Given the description of an element on the screen output the (x, y) to click on. 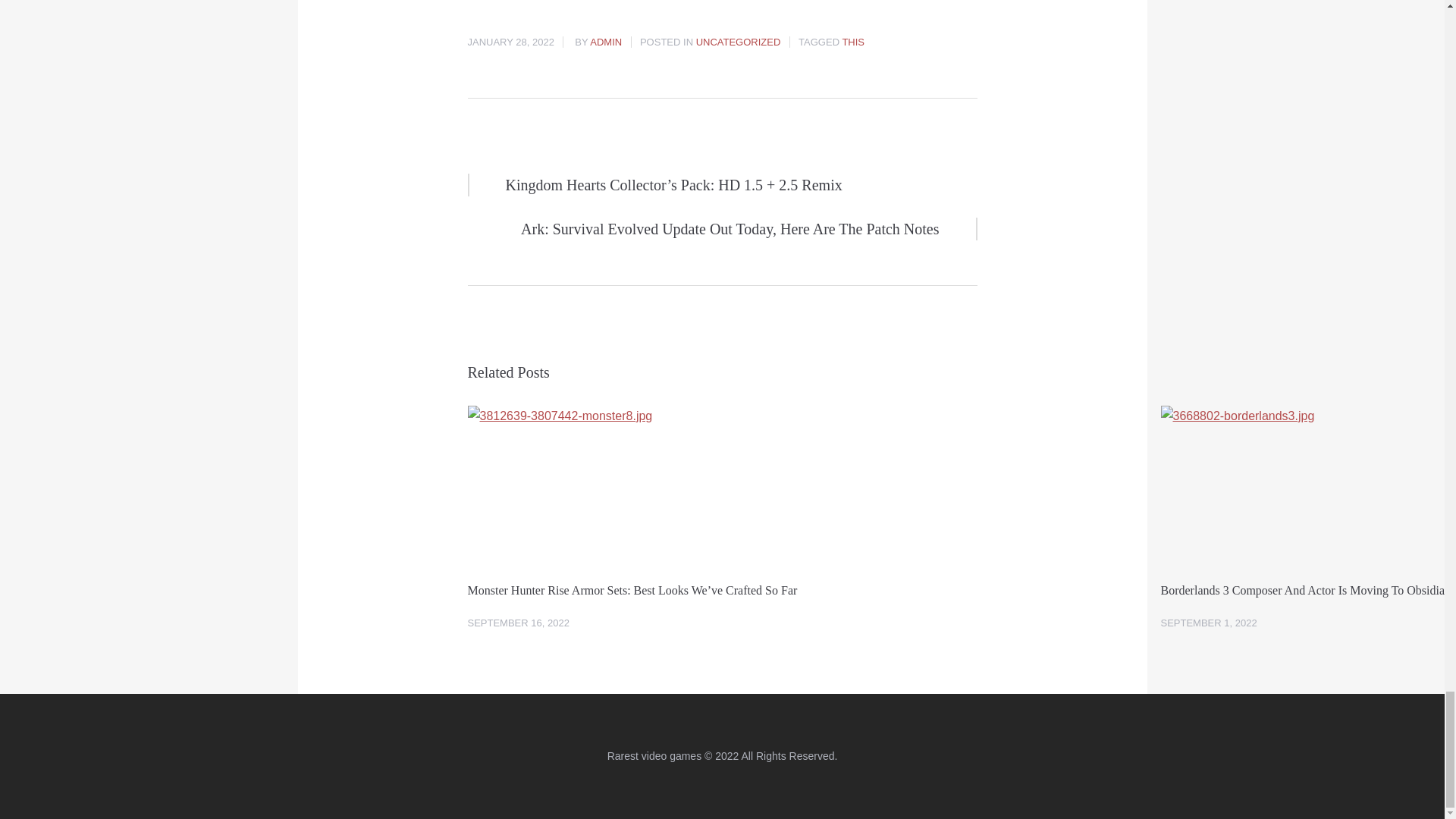
UNCATEGORIZED (737, 41)
Borderlands 3 Composer And Actor Is Moving To Obsidian (1308, 590)
THIS (852, 41)
Borderlands 3 Composer And Actor Is Moving To Obsidian (1308, 590)
ADMIN (605, 41)
